Given the description of an element on the screen output the (x, y) to click on. 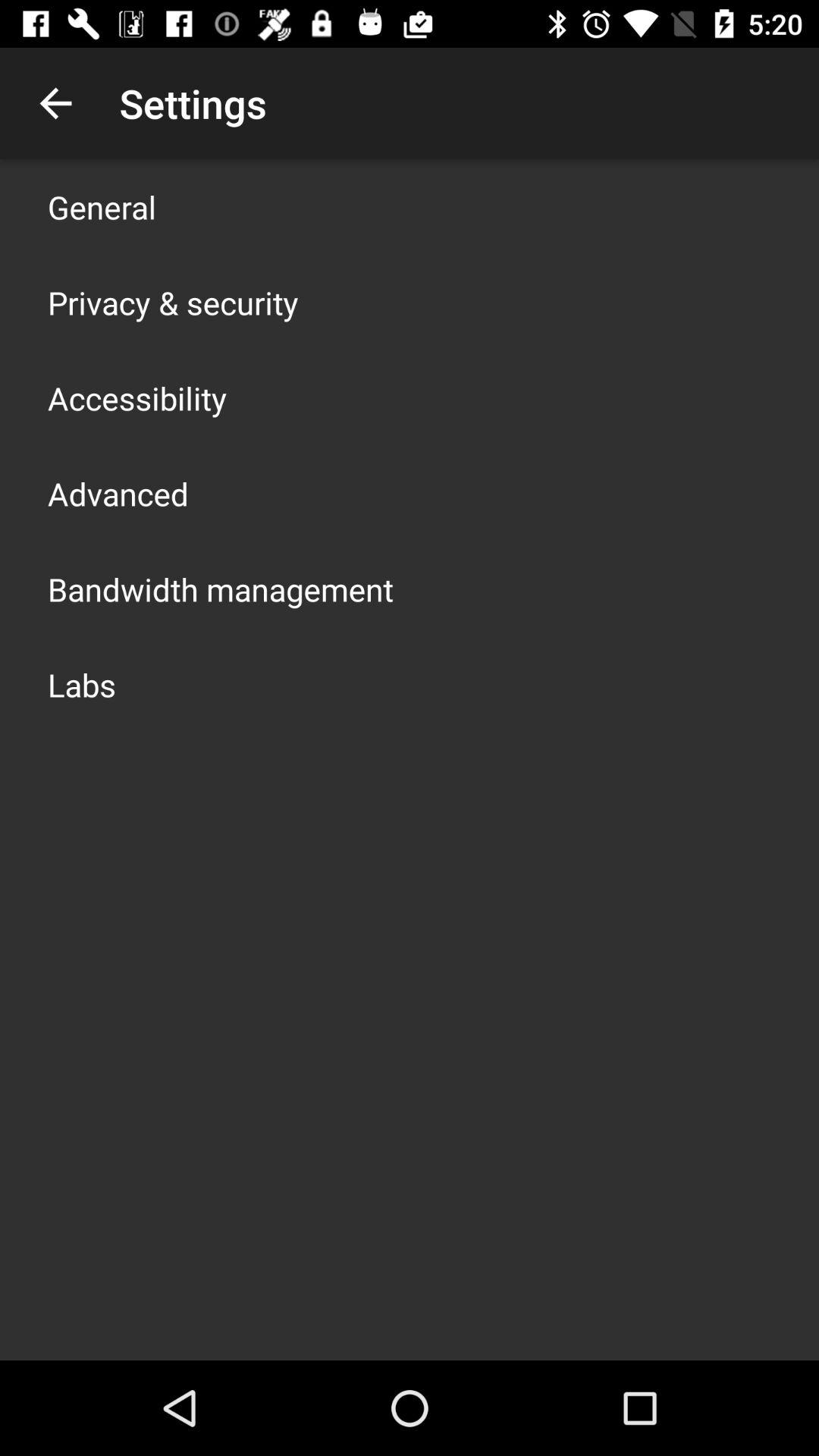
open the general (101, 206)
